Given the description of an element on the screen output the (x, y) to click on. 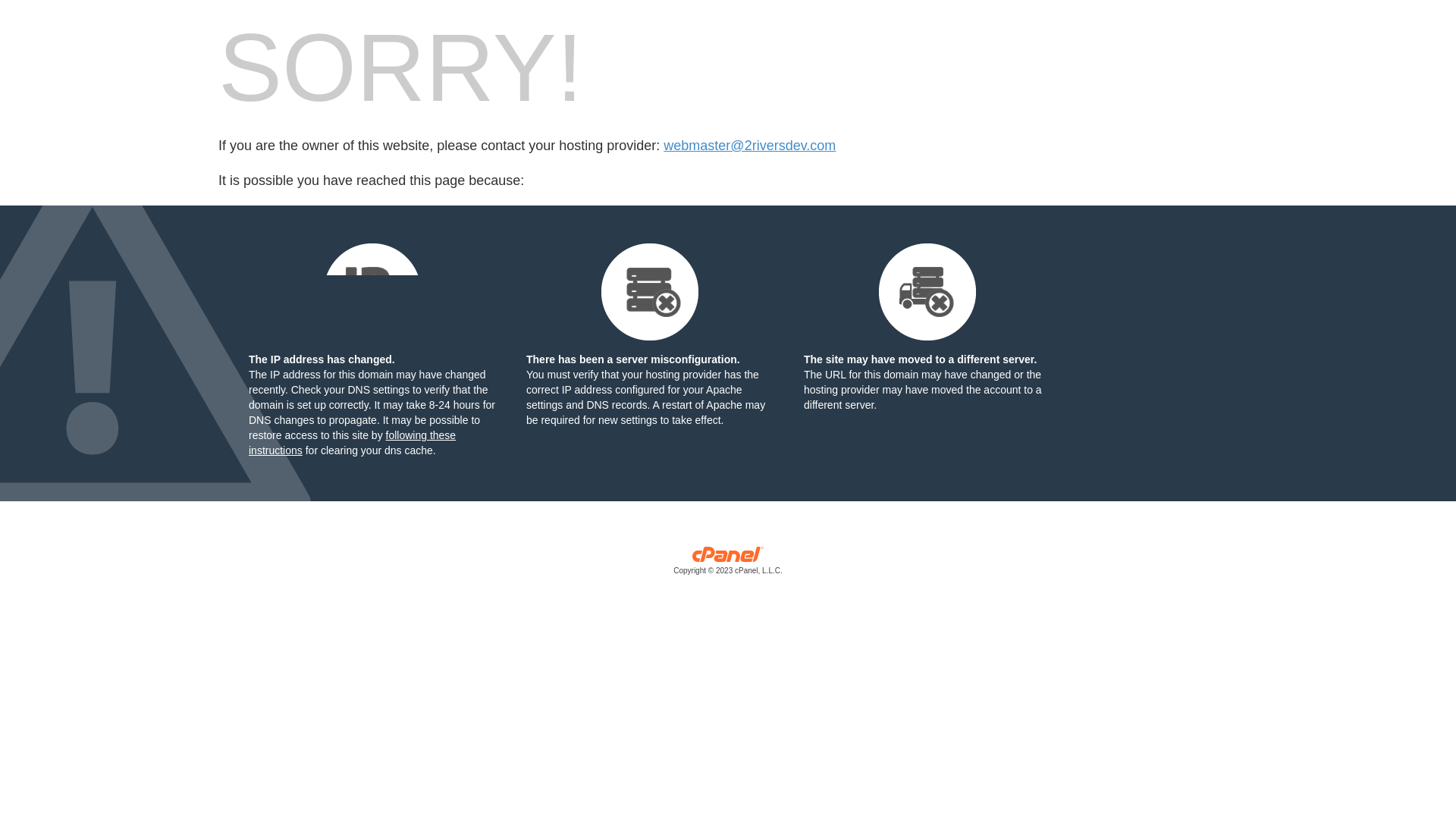
webmaster@2riversdev.com Element type: text (749, 145)
following these instructions Element type: text (351, 442)
